Given the description of an element on the screen output the (x, y) to click on. 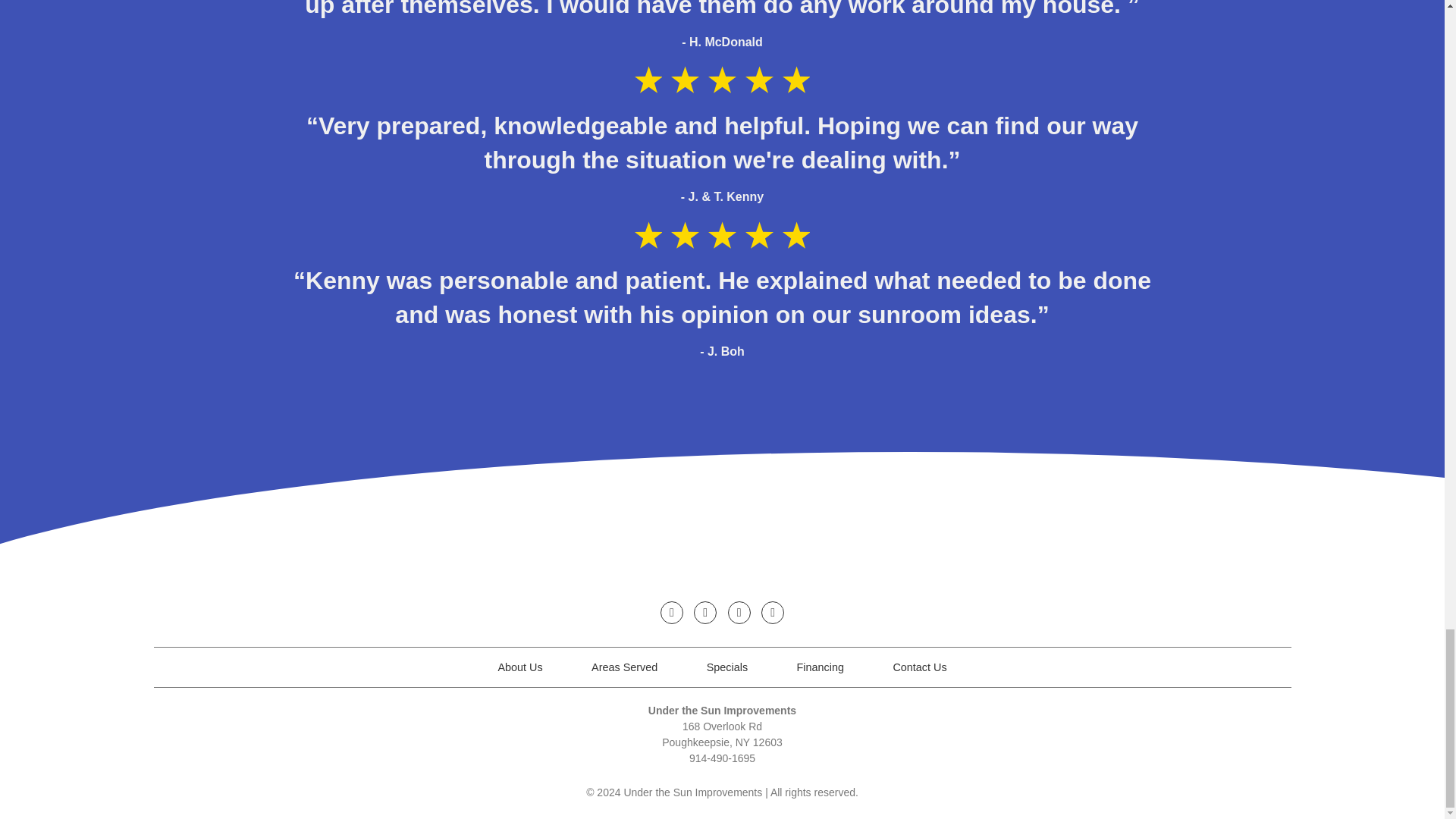
Instagram (705, 612)
YouTube (772, 612)
Facebook (671, 612)
Linkedin (739, 612)
